Given the description of an element on the screen output the (x, y) to click on. 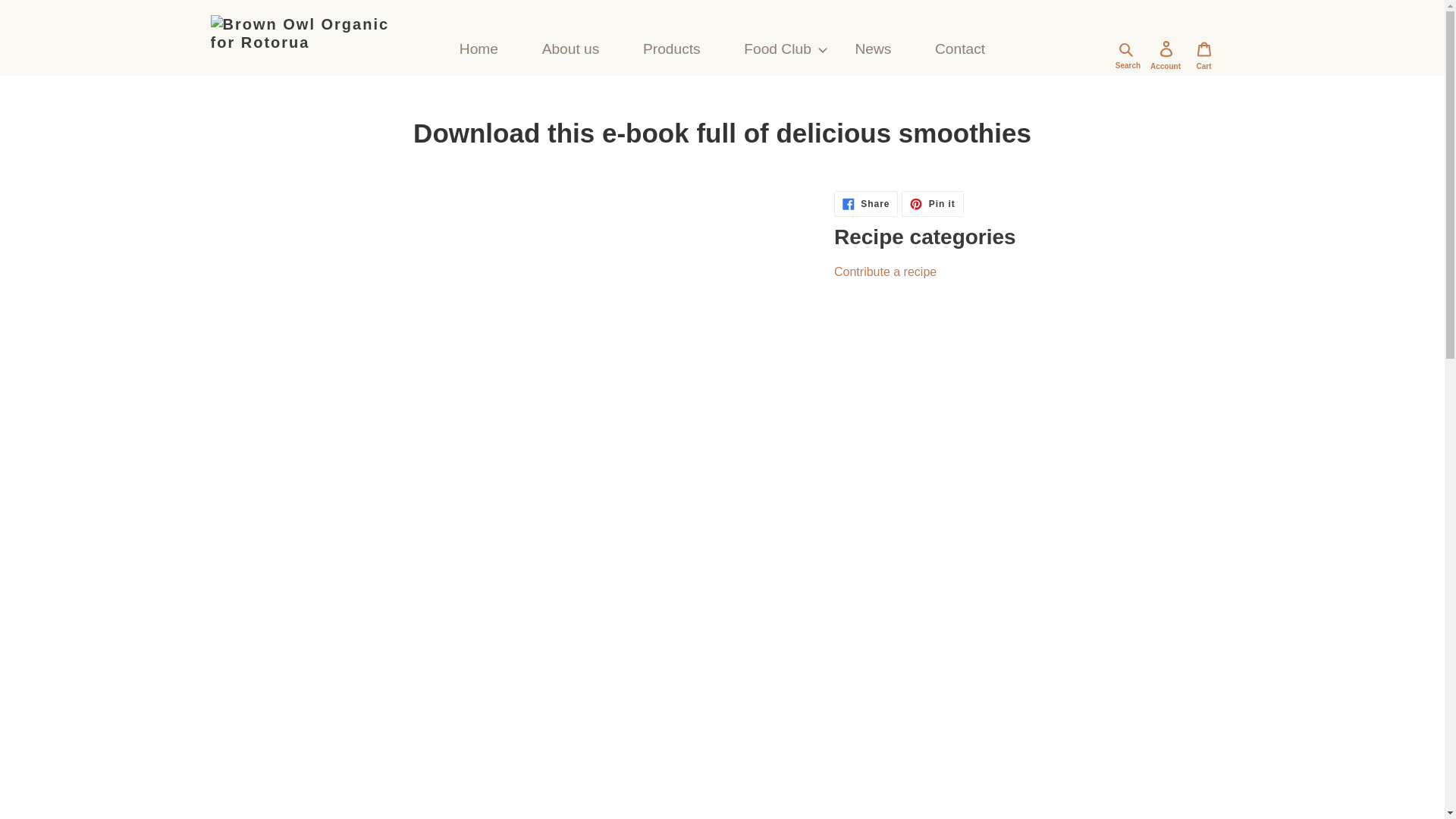
Home (866, 203)
Products (478, 49)
About us (671, 49)
Contact (570, 49)
Food Club (959, 49)
Cart (777, 49)
News (1204, 48)
Contribute a recipe (873, 49)
Search (885, 271)
